Given the description of an element on the screen output the (x, y) to click on. 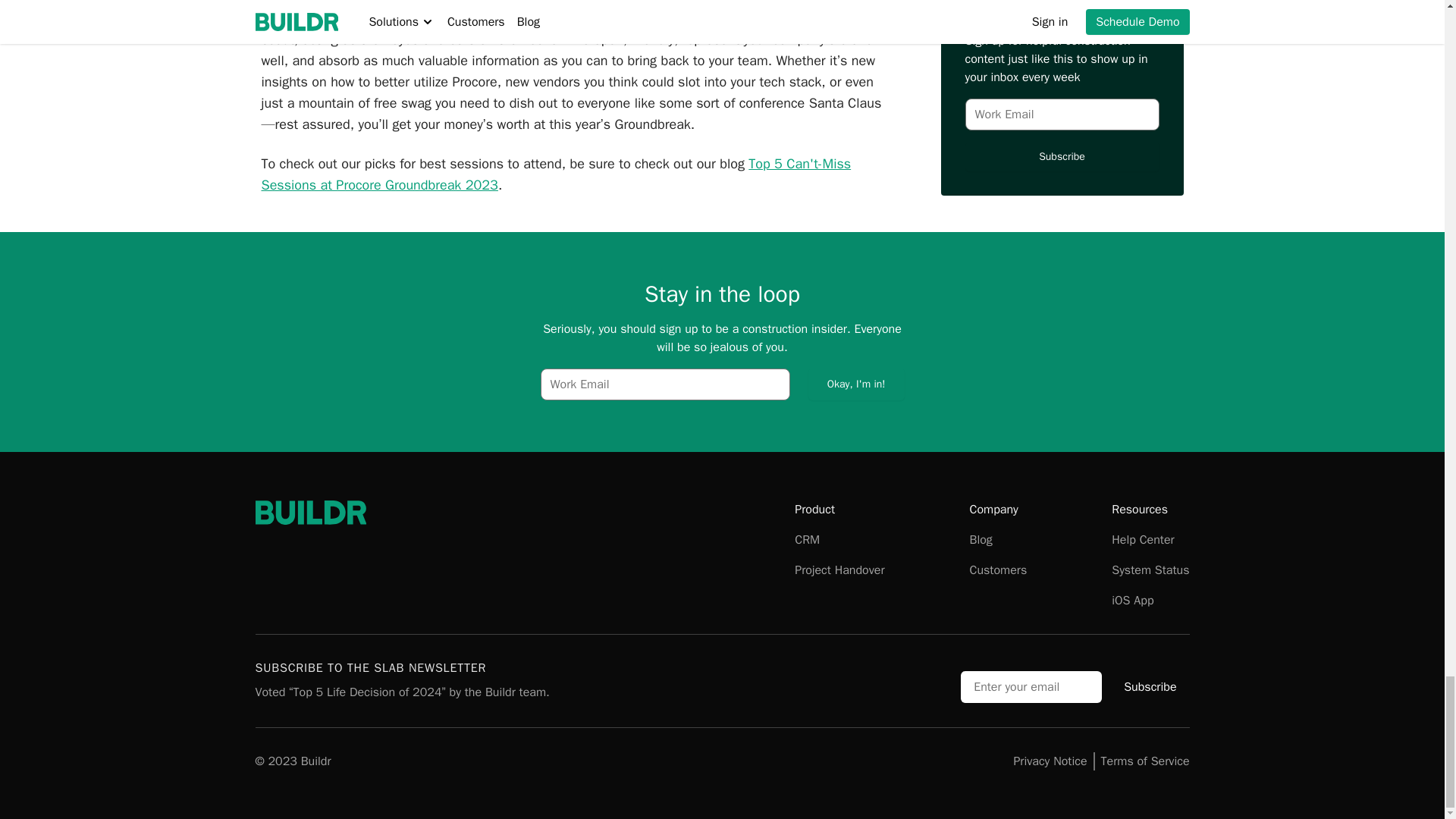
Customers (997, 570)
Subscribe (1149, 686)
Terms of Service (1144, 761)
Help Center (1142, 539)
Top 5 Can't-Miss Sessions at Procore Groundbreak 2023 (555, 174)
Project Handover (838, 570)
Blog (980, 539)
iOS App (1132, 600)
System Status (1150, 570)
Okay, I'm in! (856, 384)
Privacy Notice (1049, 761)
CRM (806, 539)
